Given the description of an element on the screen output the (x, y) to click on. 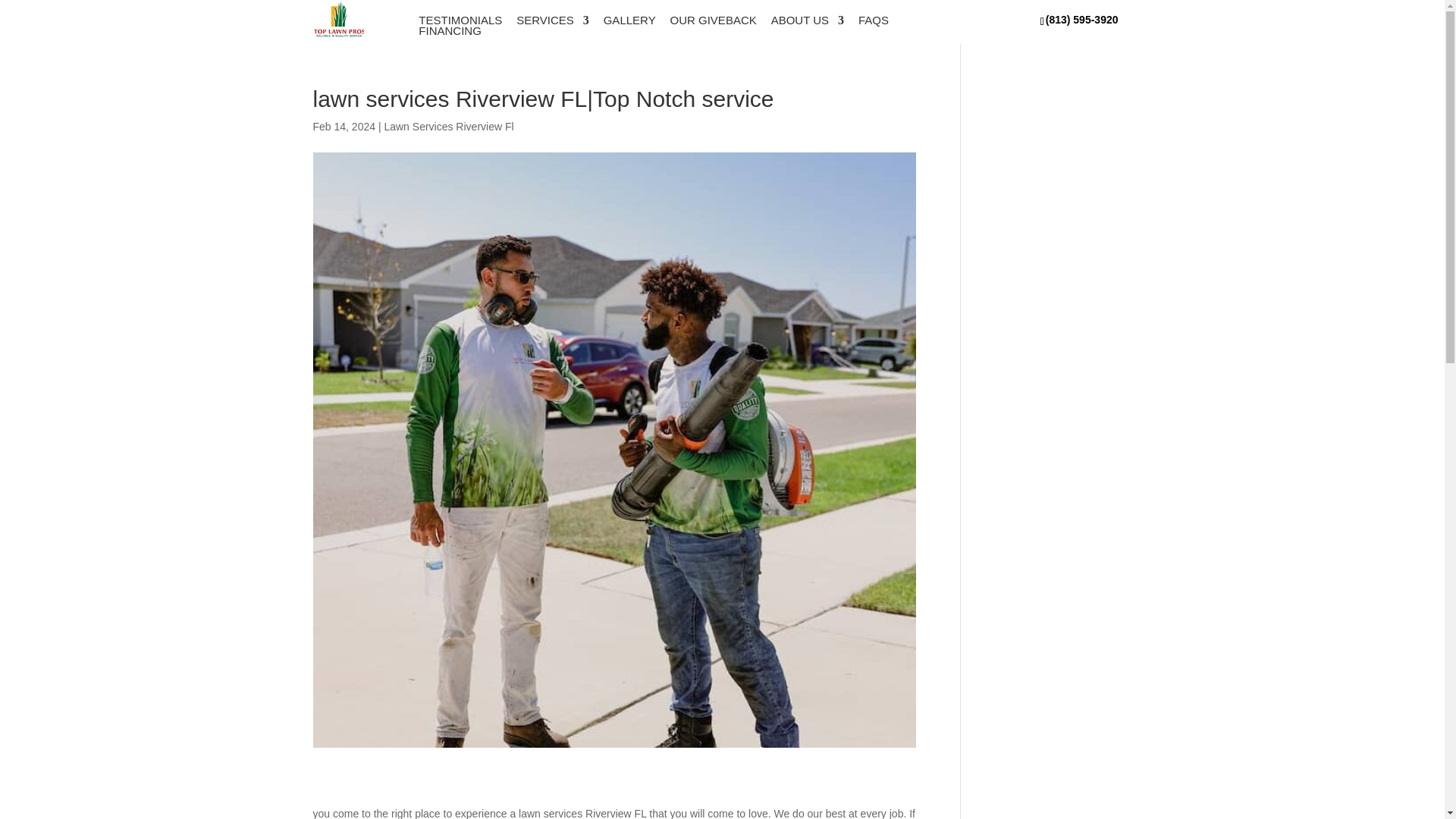
TESTIMONIALS (460, 20)
ABOUT US (807, 20)
FAQS (873, 20)
SERVICES (552, 20)
GALLERY (630, 20)
Lawn Services Riverview Fl (448, 126)
FINANCING (450, 30)
OUR GIVEBACK (713, 20)
